Given the description of an element on the screen output the (x, y) to click on. 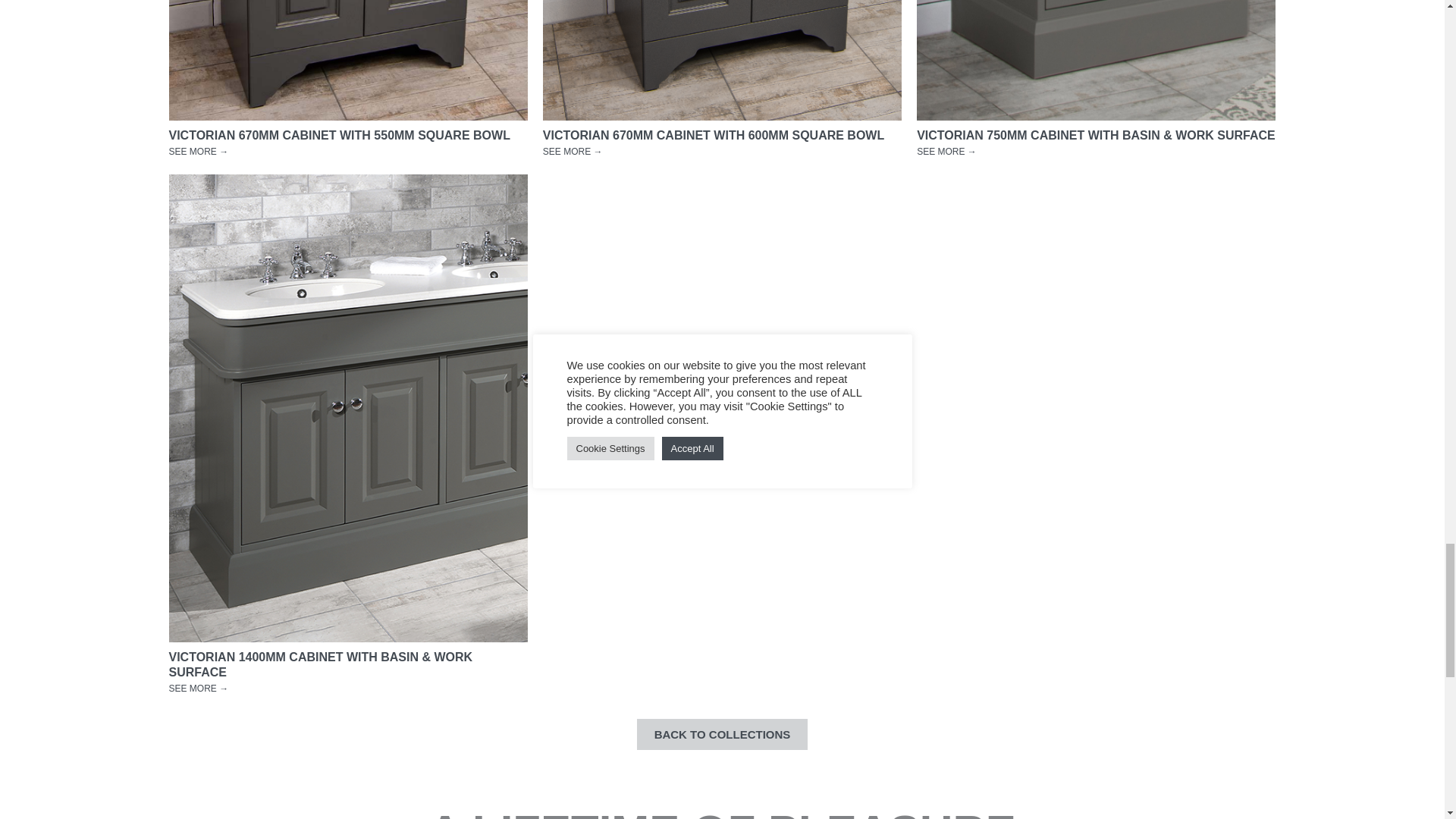
BACK TO COLLECTIONS (722, 734)
